Given the description of an element on the screen output the (x, y) to click on. 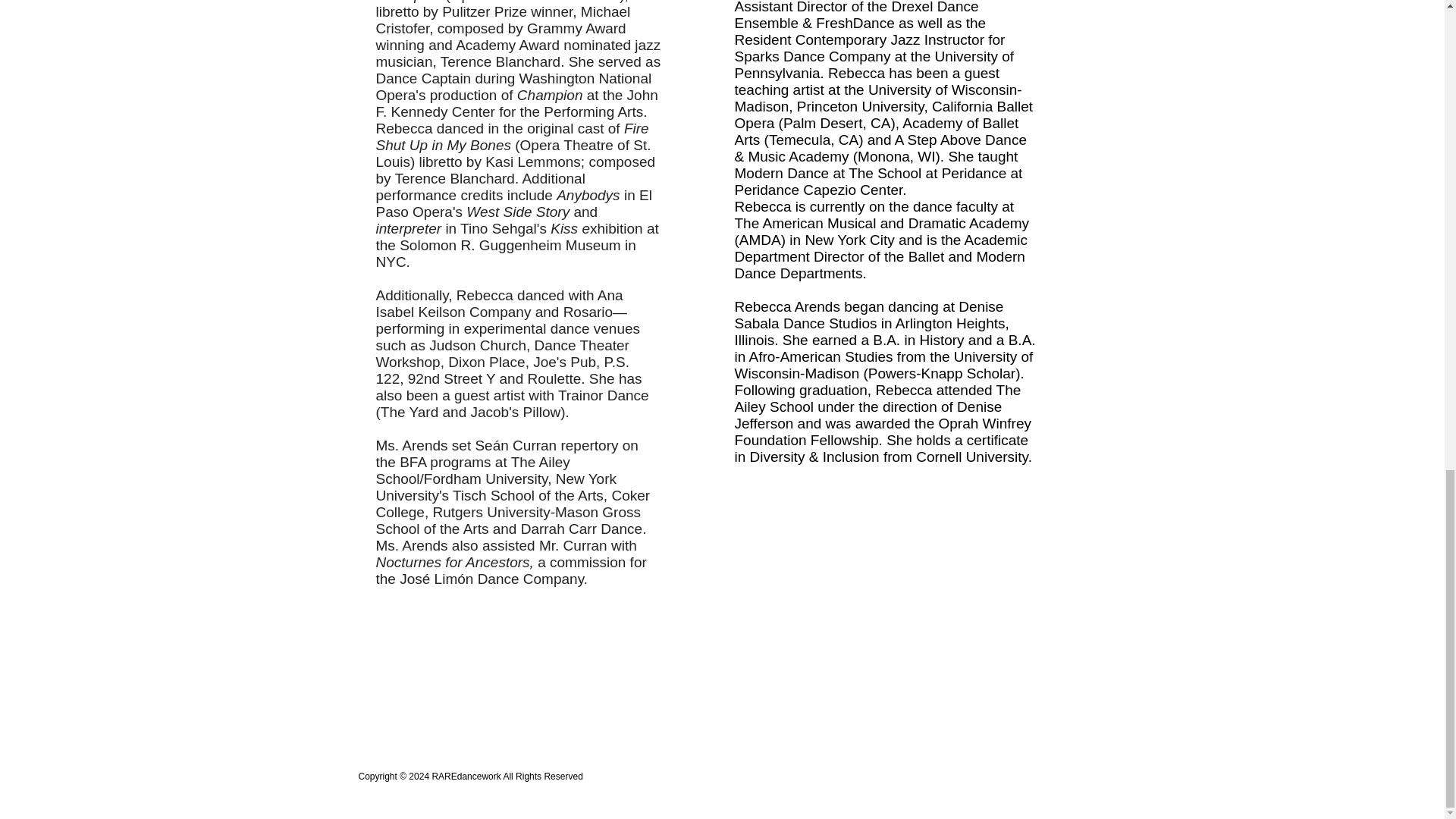
Terence Blanchard (500, 61)
